Given the description of an element on the screen output the (x, y) to click on. 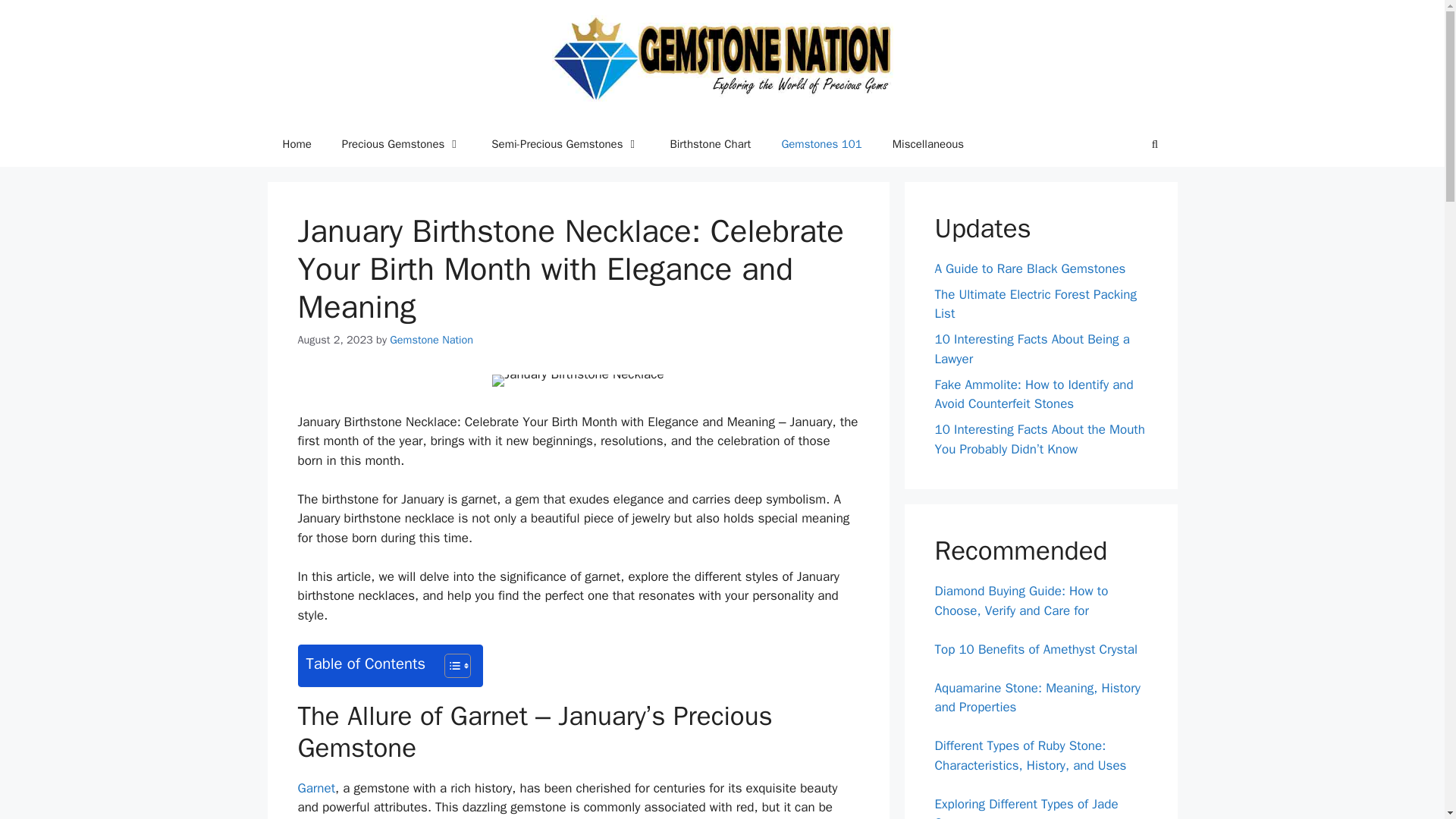
Precious Gemstones (401, 144)
Birthstone Chart (709, 144)
Miscellaneous (927, 144)
Gemstone Nation (431, 339)
Gemstones 101 (820, 144)
View all posts by Gemstone Nation (431, 339)
Semi-Precious Gemstones (564, 144)
Home (296, 144)
